Given the description of an element on the screen output the (x, y) to click on. 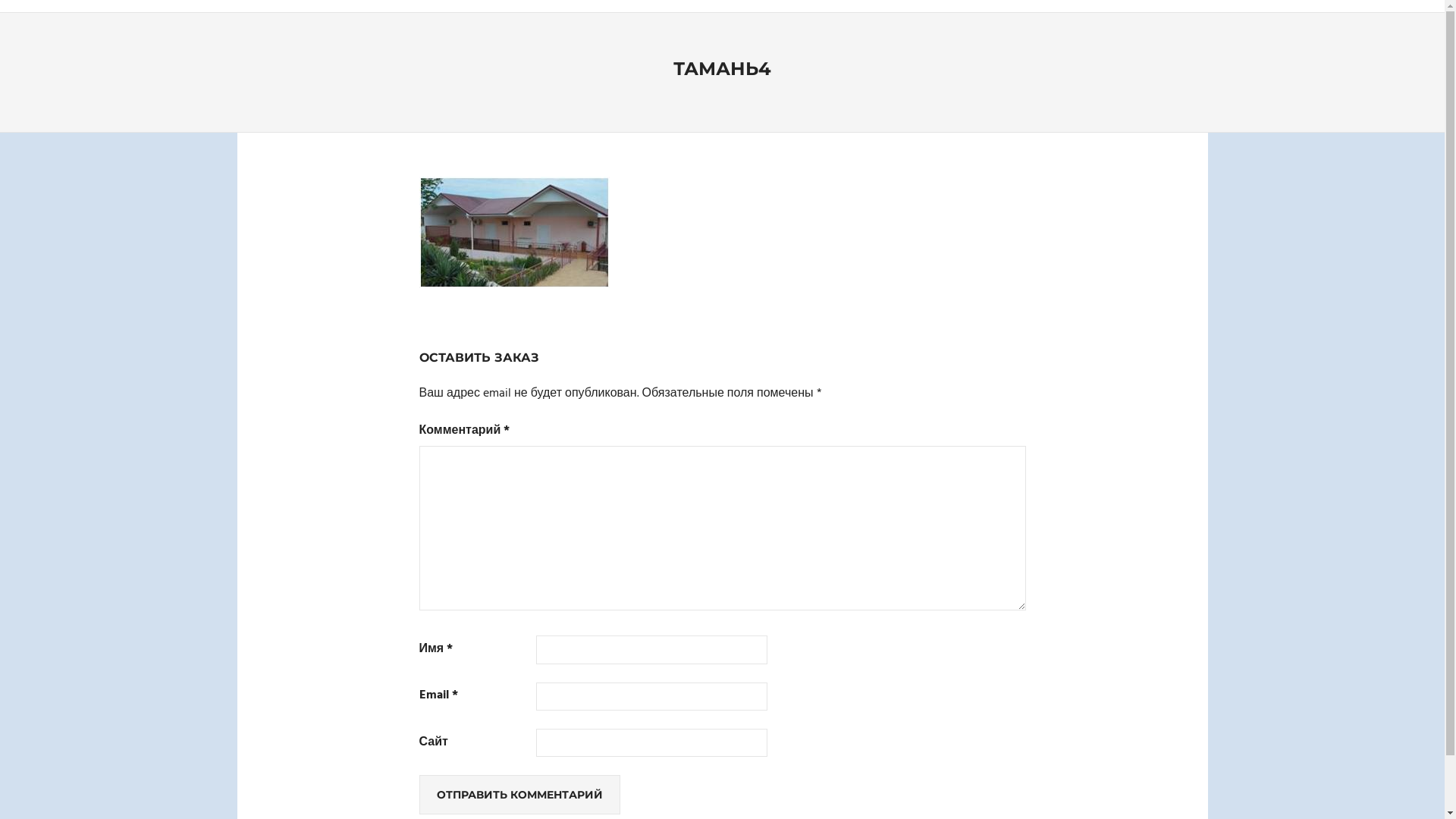
No comments Element type: text (787, 100)
01.02.2016 Element type: text (771, 100)
